Given the description of an element on the screen output the (x, y) to click on. 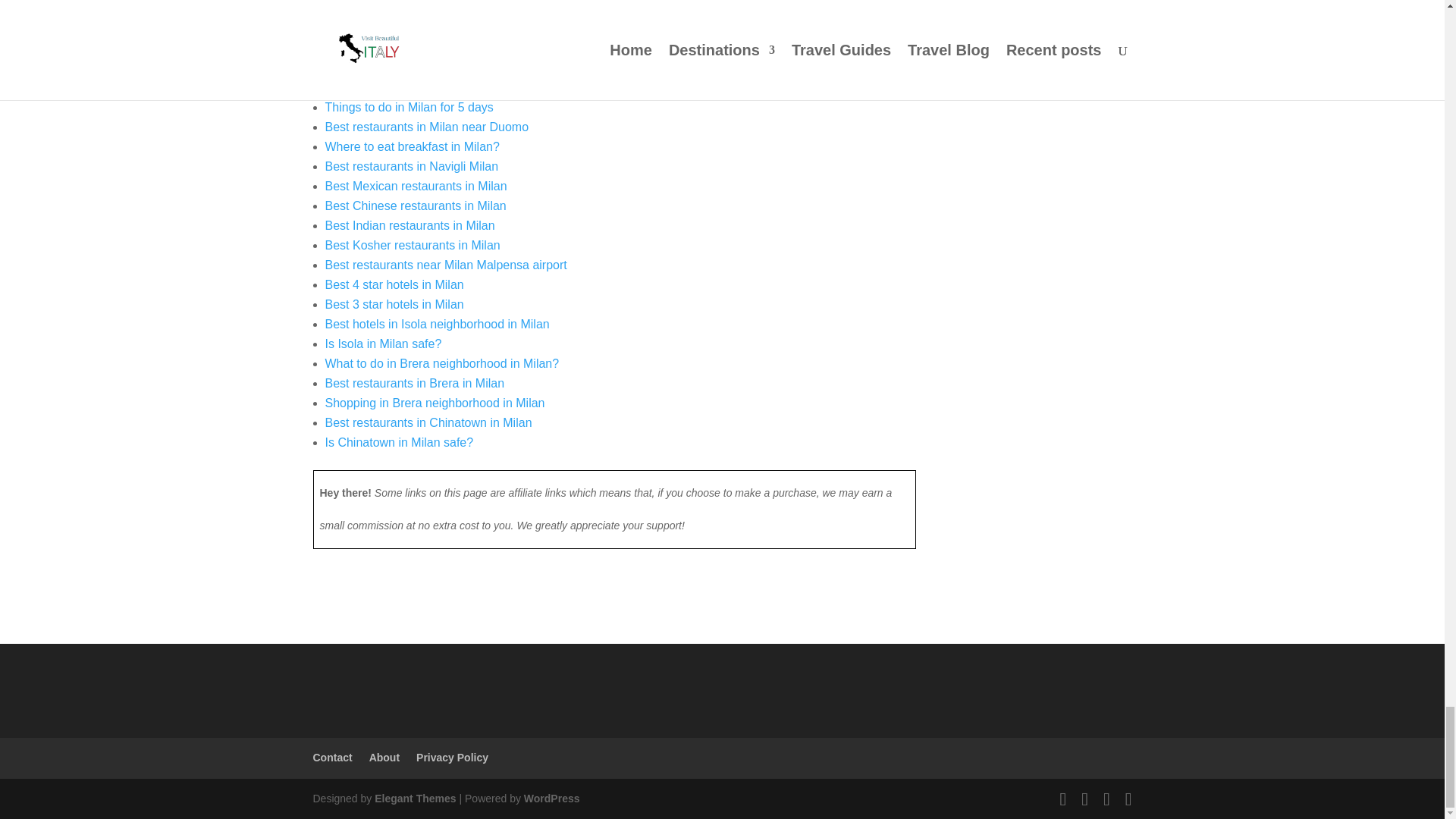
Best restaurants in Navigli Milan (410, 165)
Best 4 star hotels in Milan (393, 284)
Best restaurants near Milan Malpensa airport (445, 264)
Best 3 star hotels in Milan (393, 304)
Premium WordPress Themes (414, 798)
Best Chinese restaurants in Milan (414, 205)
Best hotels in Isola neighborhood in Milan (436, 323)
Best Indian restaurants in Milan (409, 225)
What to do in Brera neighborhood in Milan? (441, 363)
Best Mexican restaurants in Milan (415, 185)
